Given the description of an element on the screen output the (x, y) to click on. 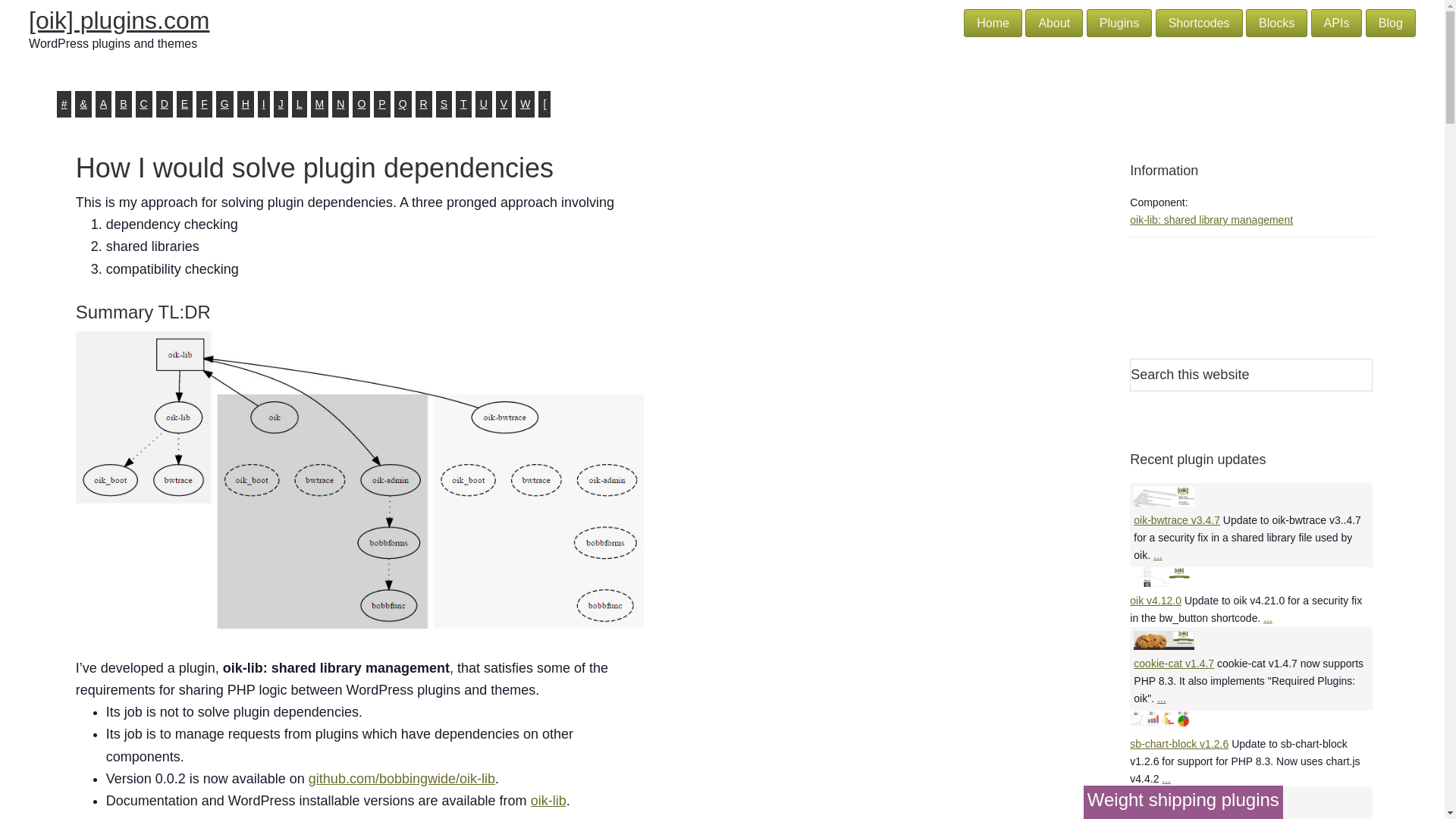
Shortcodes (1199, 22)
H (245, 103)
B (123, 103)
A (104, 103)
Blog (1390, 22)
J (280, 103)
Plugins (1118, 22)
D (164, 103)
I (263, 103)
Home (992, 22)
G (223, 103)
E (184, 103)
F (204, 103)
APIs (1336, 22)
